Given the description of an element on the screen output the (x, y) to click on. 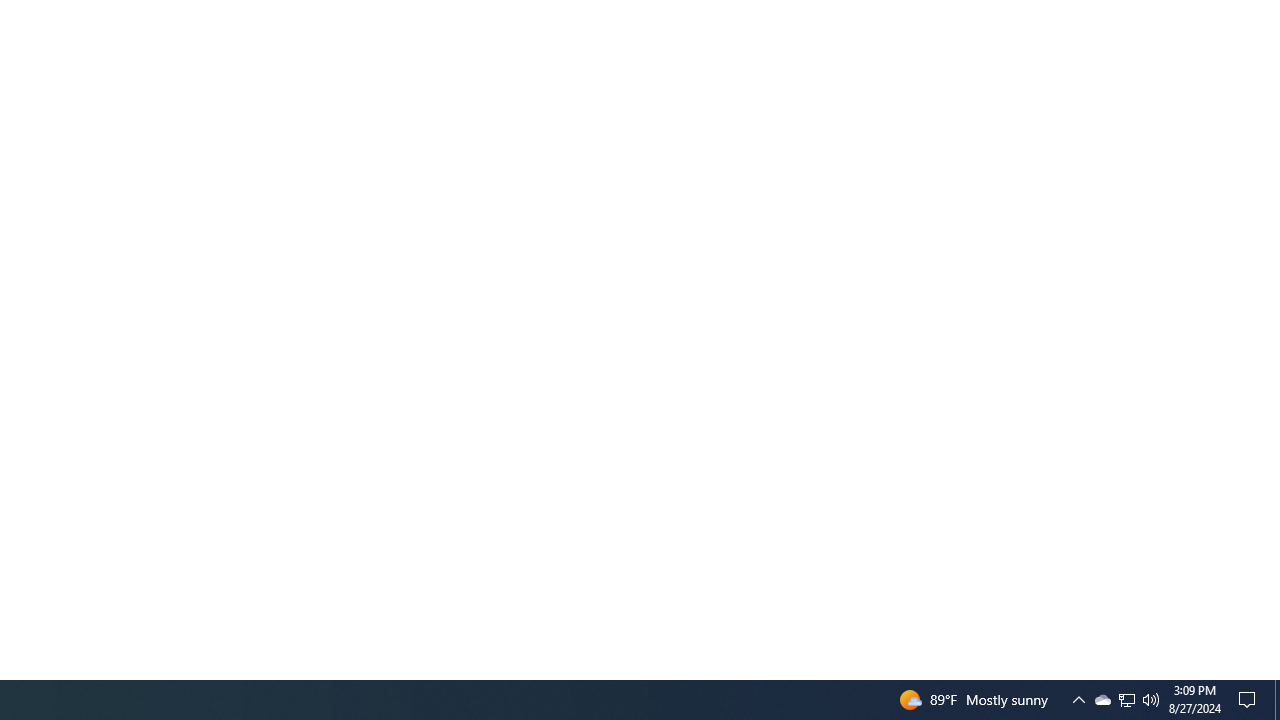
Notification Chevron (1078, 699)
User Promoted Notification Area (1102, 699)
Q2790: 100% (1126, 699)
Action Center, No new notifications (1151, 699)
Show desktop (1250, 699)
